Given the description of an element on the screen output the (x, y) to click on. 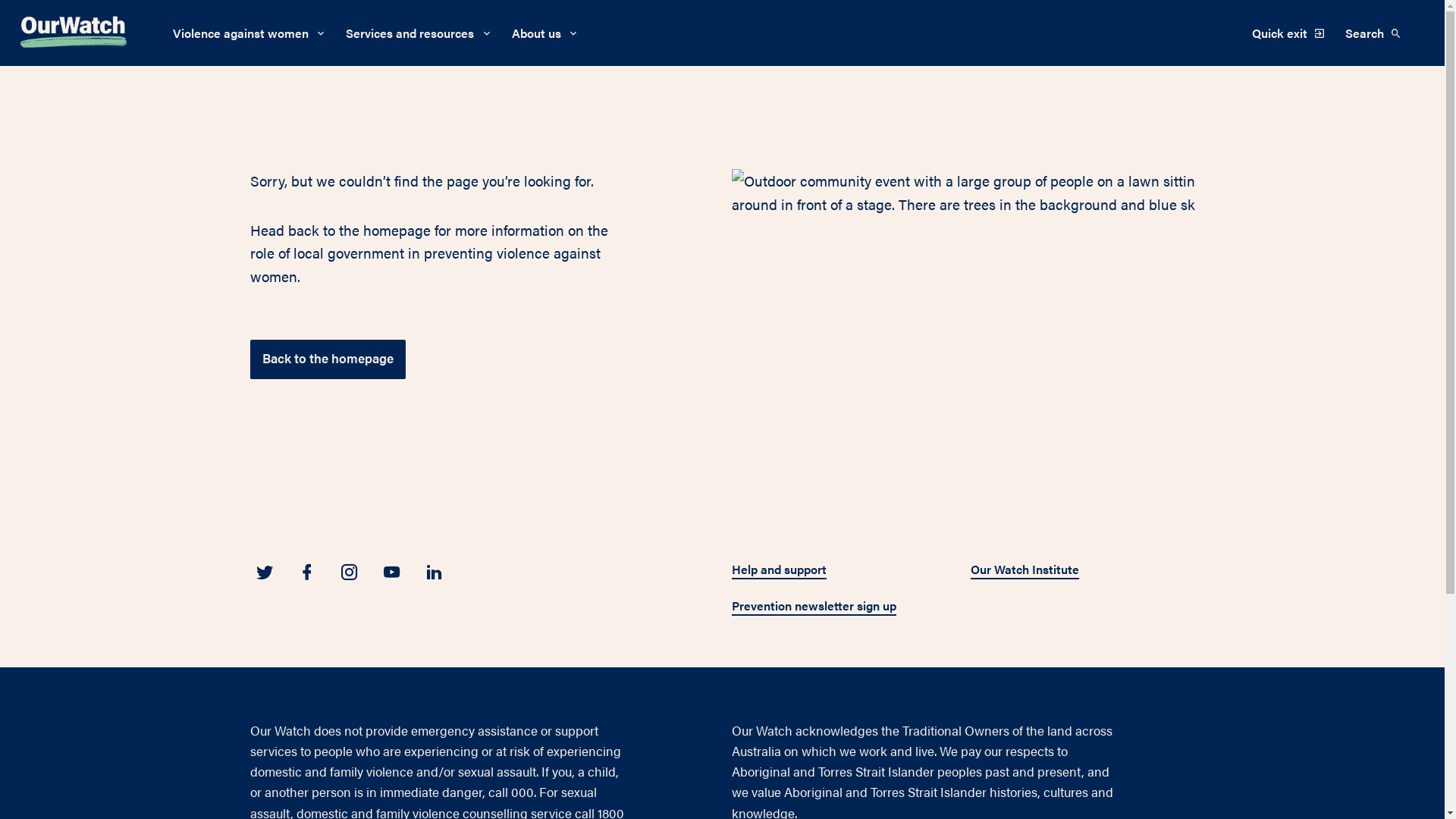
Our Watch Institute Element type: text (1024, 569)
Search Element type: text (1375, 33)
Quick exit Element type: text (1288, 32)
Help and support Element type: text (778, 569)
Back to the homepage Element type: text (327, 359)
Prevention newsletter sign up Element type: text (813, 605)
